Given the description of an element on the screen output the (x, y) to click on. 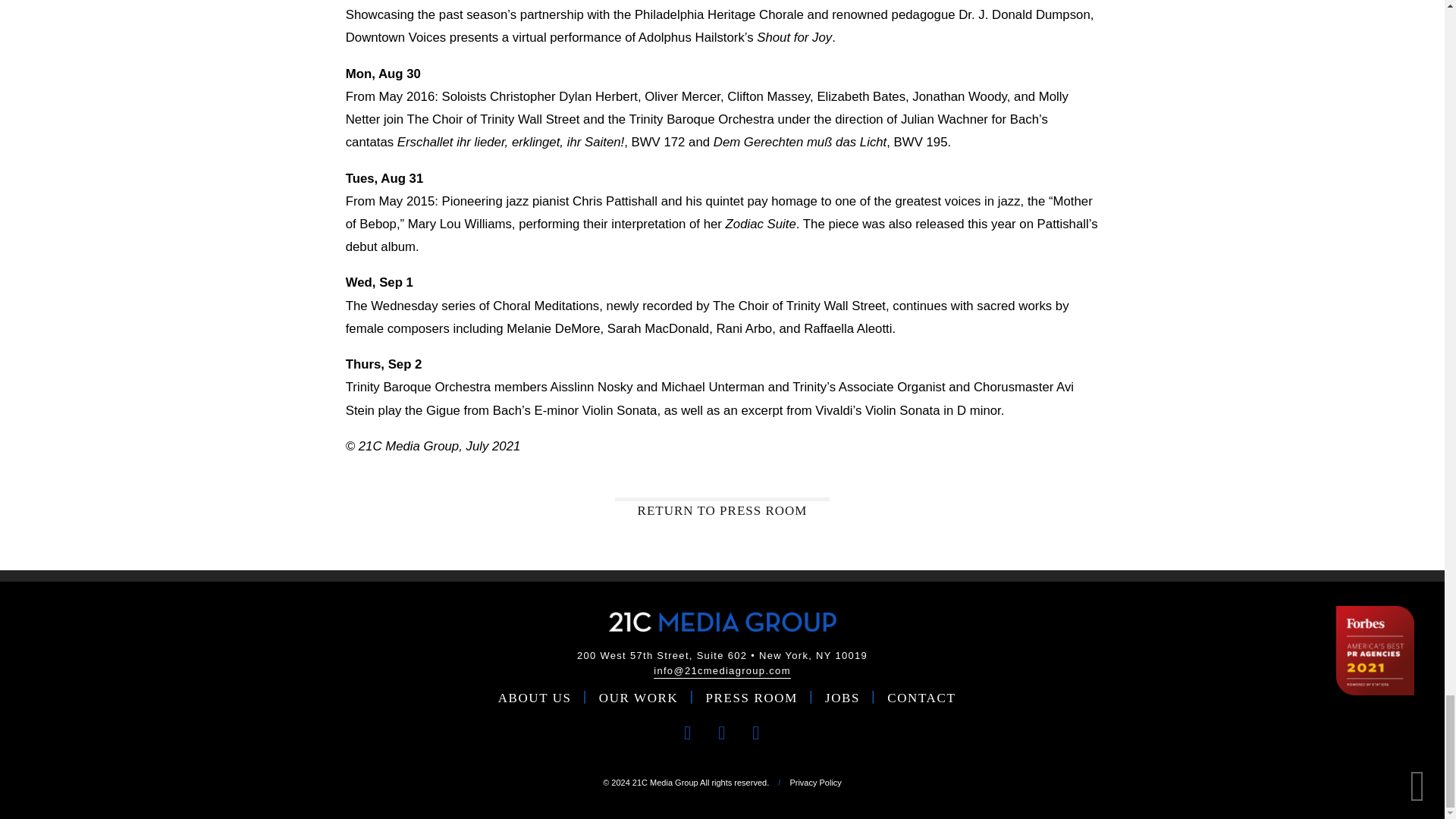
OUR WORK (638, 698)
RETURN TO PRESS ROOM (721, 508)
CONTACT (920, 698)
JOBS (842, 698)
Privacy Policy (815, 782)
PRESS ROOM (751, 698)
ABOUT US (534, 698)
